Given the description of an element on the screen output the (x, y) to click on. 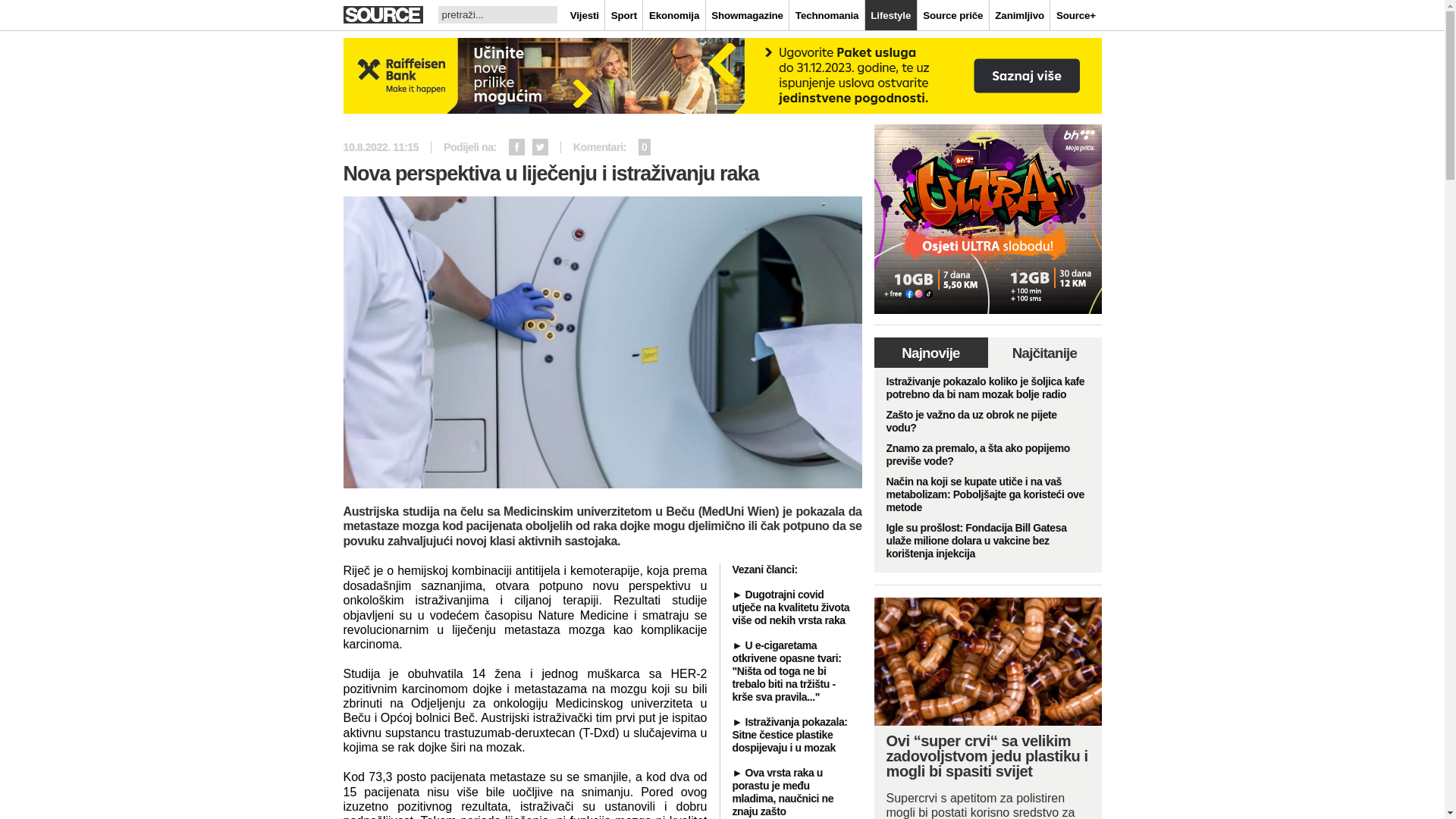
Najnovije Element type: text (930, 352)
